Given the description of an element on the screen output the (x, y) to click on. 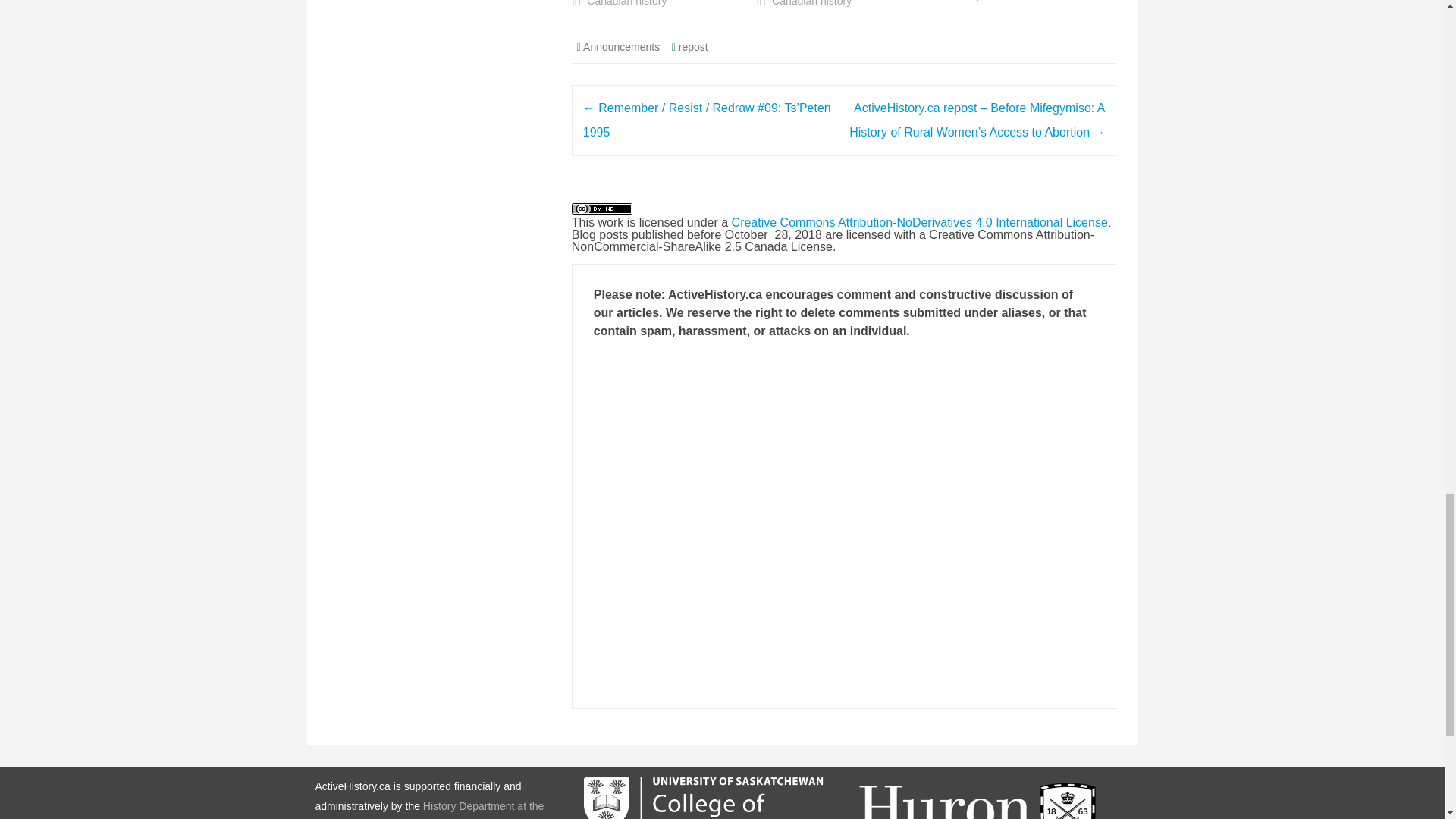
repost (692, 46)
Announcements (621, 46)
